Given the description of an element on the screen output the (x, y) to click on. 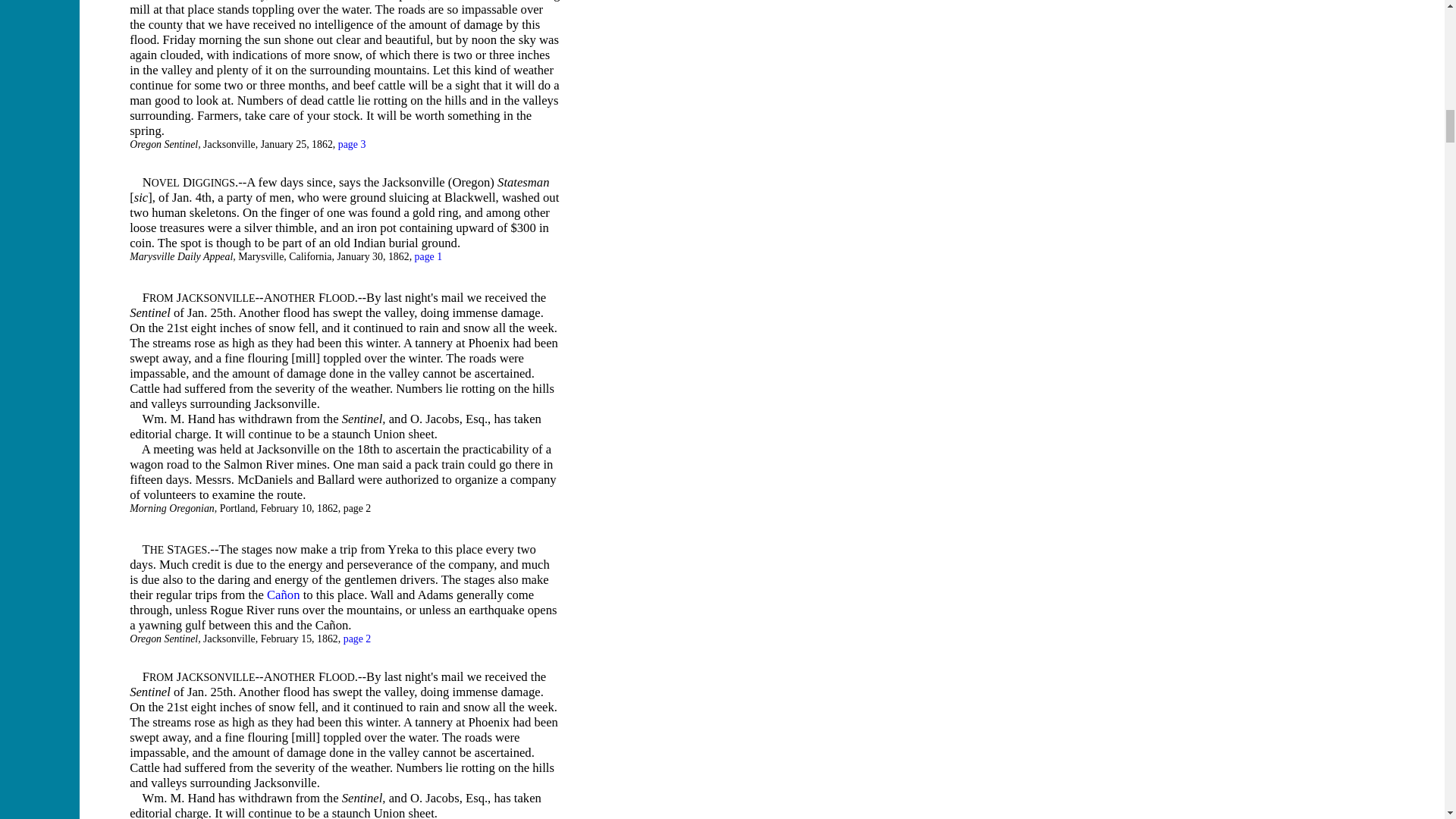
page 1 (428, 256)
page 3 (351, 143)
page 2 (357, 638)
